Given the description of an element on the screen output the (x, y) to click on. 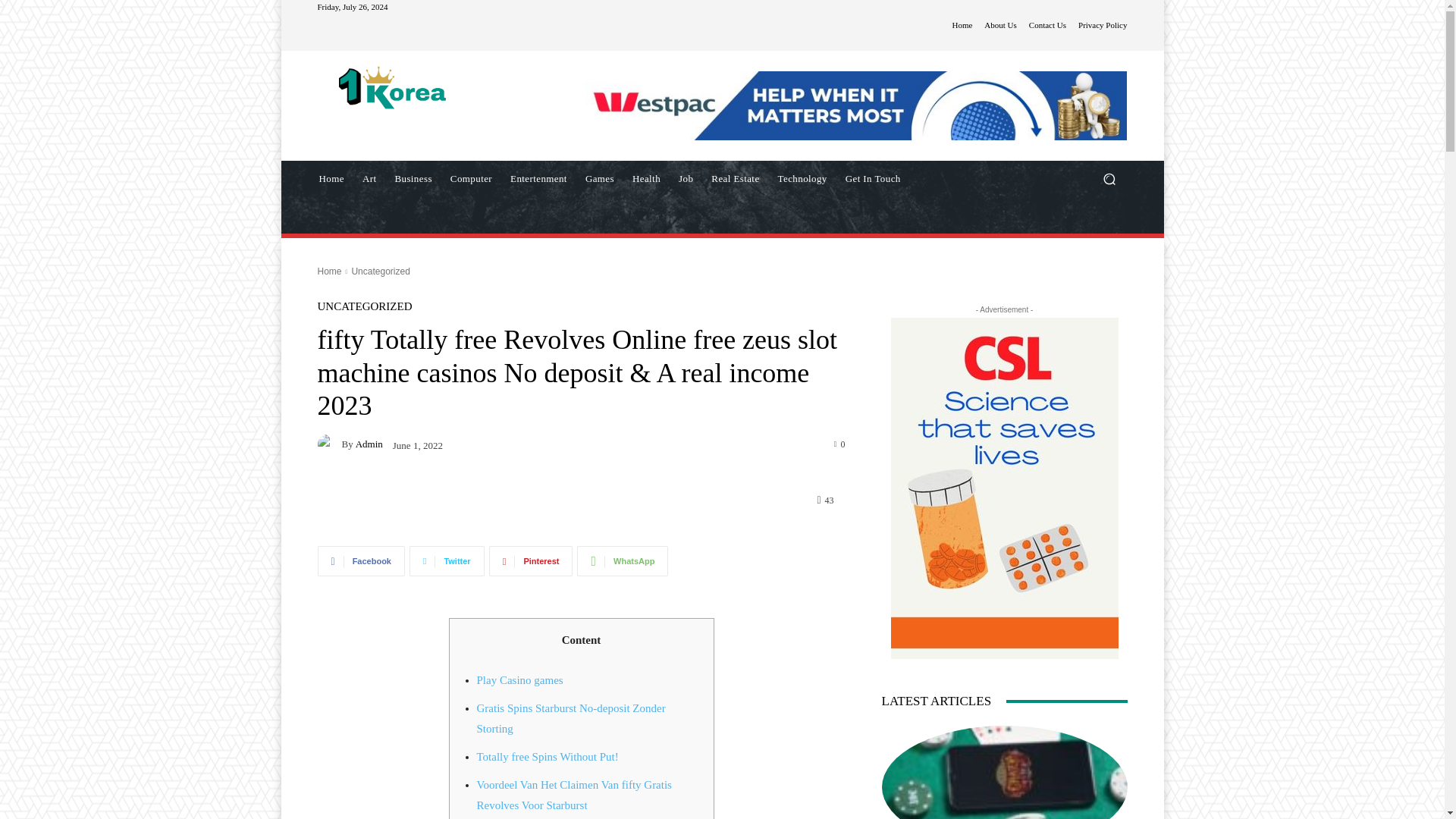
Home (330, 178)
Twitter (446, 561)
WhatsApp (622, 561)
Facebook (360, 561)
Home (962, 25)
View all posts in Uncategorized (379, 271)
Health (646, 178)
Privacy Policy (1102, 25)
Job (685, 178)
About Us (1000, 25)
Technology (801, 178)
Art (369, 178)
Pinterest (531, 561)
Real Estate (734, 178)
admin (328, 444)
